Given the description of an element on the screen output the (x, y) to click on. 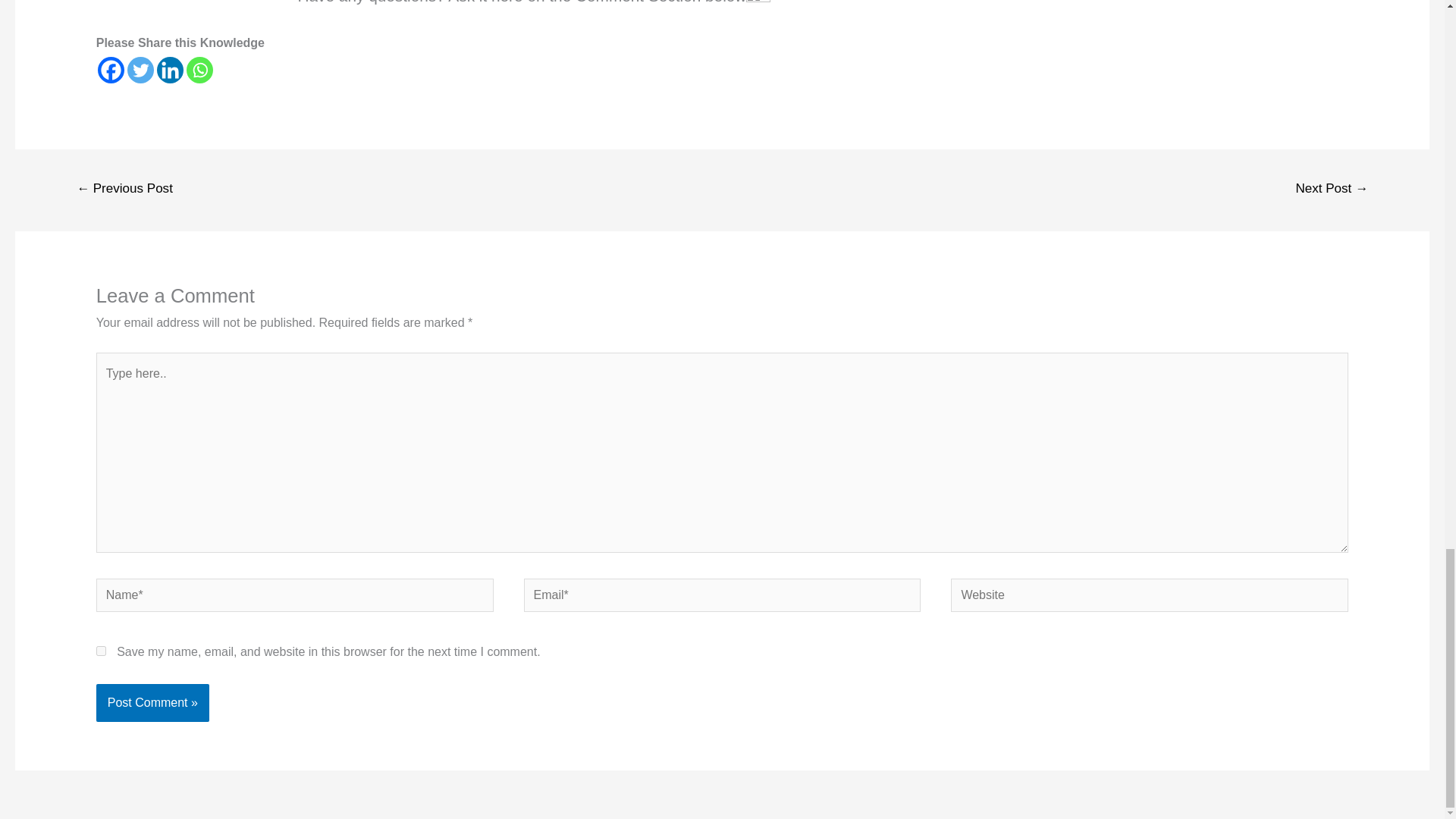
yes (101, 651)
Linkedin (170, 69)
Whatsapp (199, 69)
Twitter (141, 69)
Facebook (110, 69)
